Given the description of an element on the screen output the (x, y) to click on. 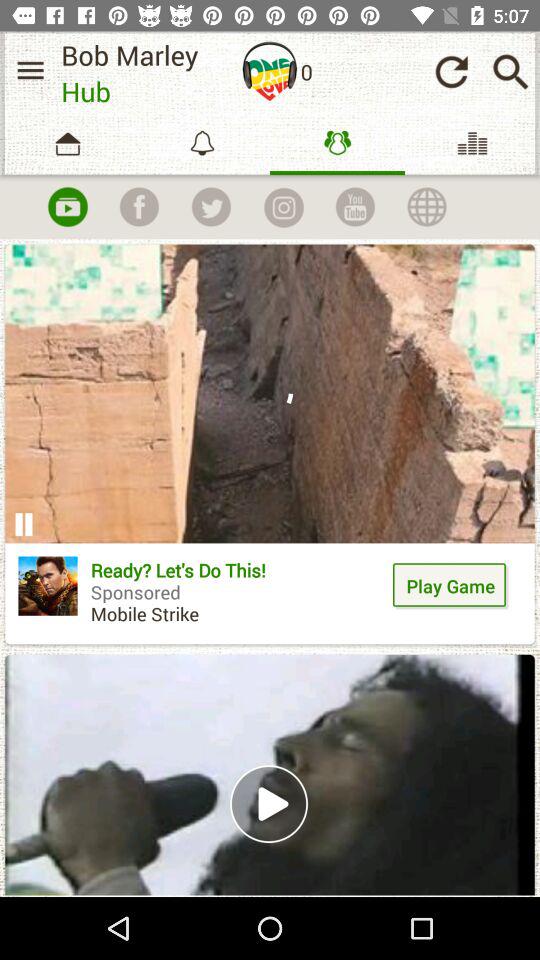
show the menu (30, 69)
